Given the description of an element on the screen output the (x, y) to click on. 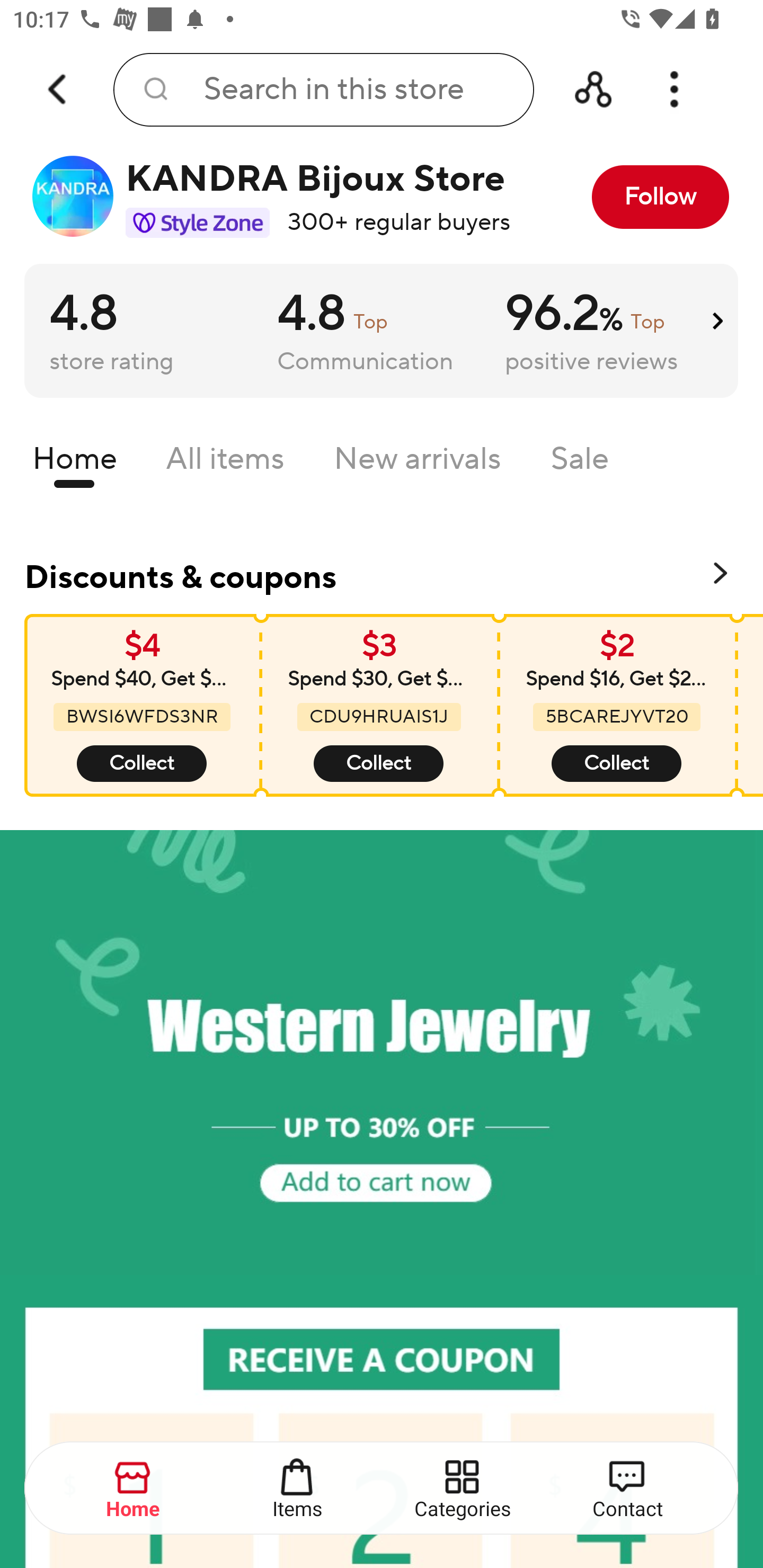
Search in this store (323, 90)
KANDRA Bijoux Store  300+ regular buyers (272, 196)
Follow (660, 196)
Home (74, 463)
All items (225, 463)
New arrivals
 (418, 463)
Sale (579, 463)
Discounts & coupons (381, 573)
Collect (141, 763)
Collect (378, 763)
Collect (616, 763)
Home (133, 1488)
Items (297, 1488)
Categories (462, 1488)
Contact (627, 1488)
